Given the description of an element on the screen output the (x, y) to click on. 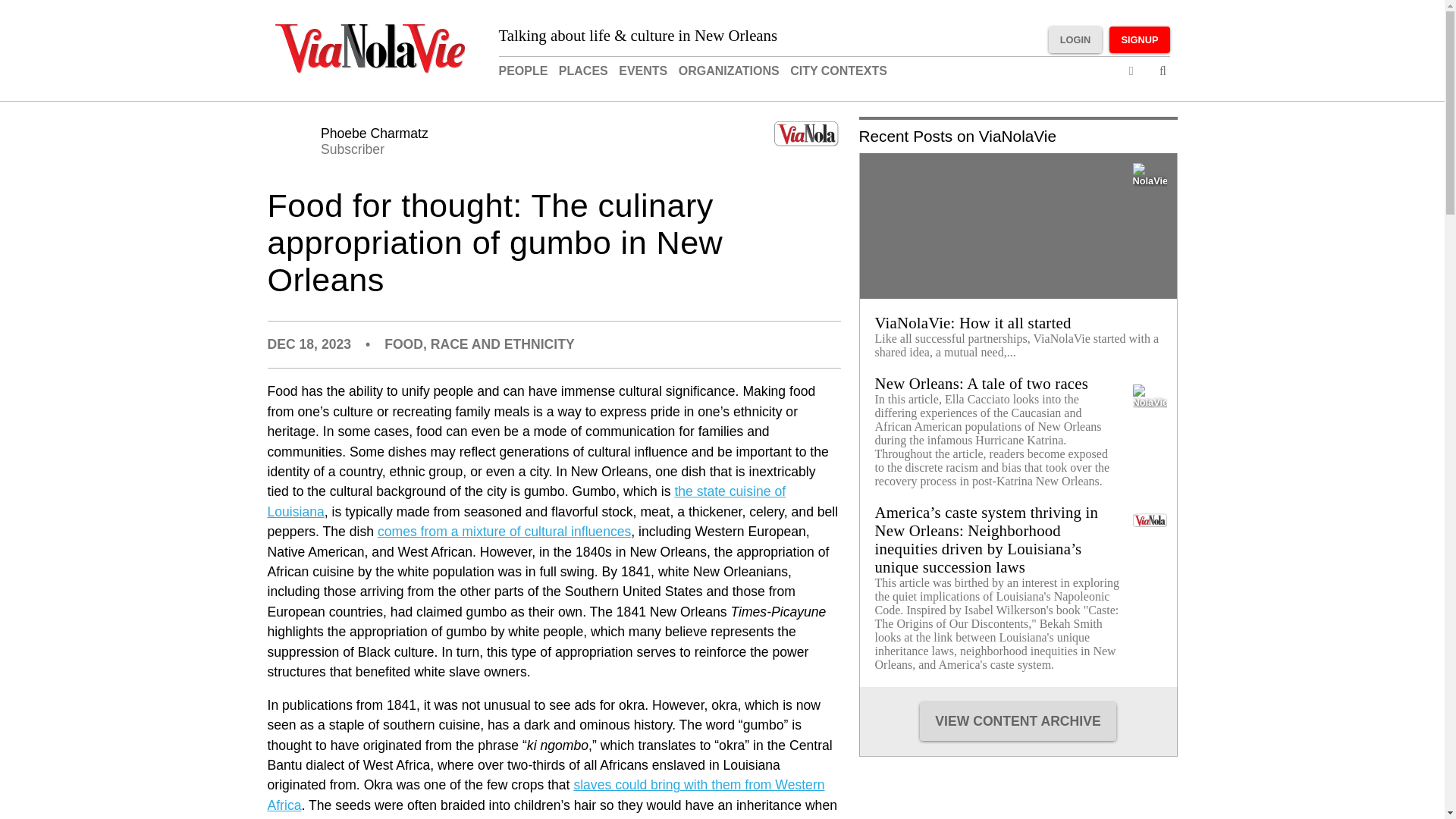
SIGNUP (1139, 39)
the state cuisine of Louisiana (526, 501)
VIEW CONTENT ARCHIVE (1017, 721)
FOOD (403, 344)
CITY CONTEXTS (354, 141)
slaves could bring with them from Western Africa (838, 70)
PEOPLE (545, 794)
LOGIN (523, 70)
